Given the description of an element on the screen output the (x, y) to click on. 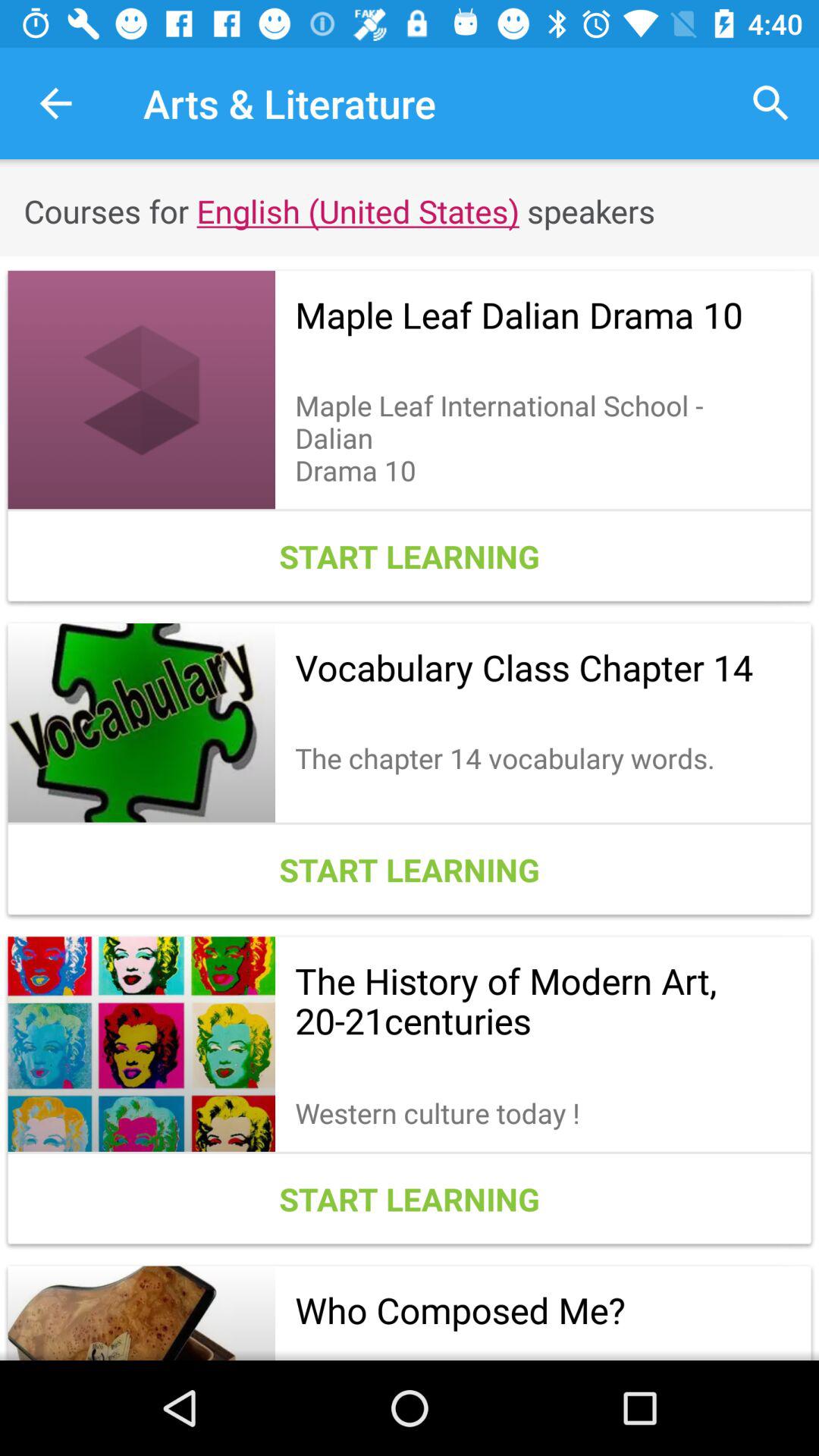
choose the item to the left of arts & literature (55, 103)
